Given the description of an element on the screen output the (x, y) to click on. 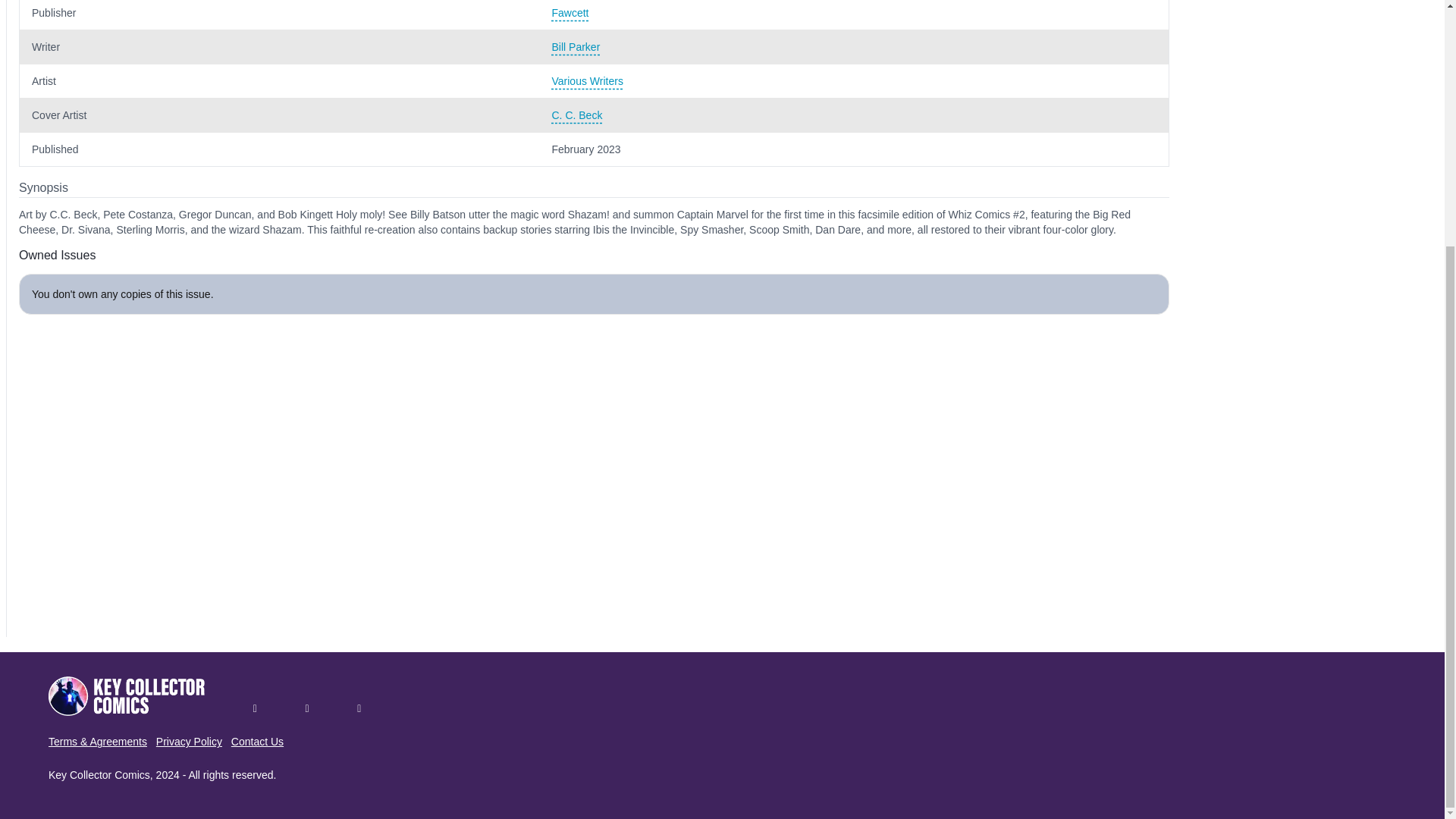
C. C. Beck (854, 114)
Various Writers (854, 80)
Fawcett (854, 12)
Bill Parker (854, 46)
